Given the description of an element on the screen output the (x, y) to click on. 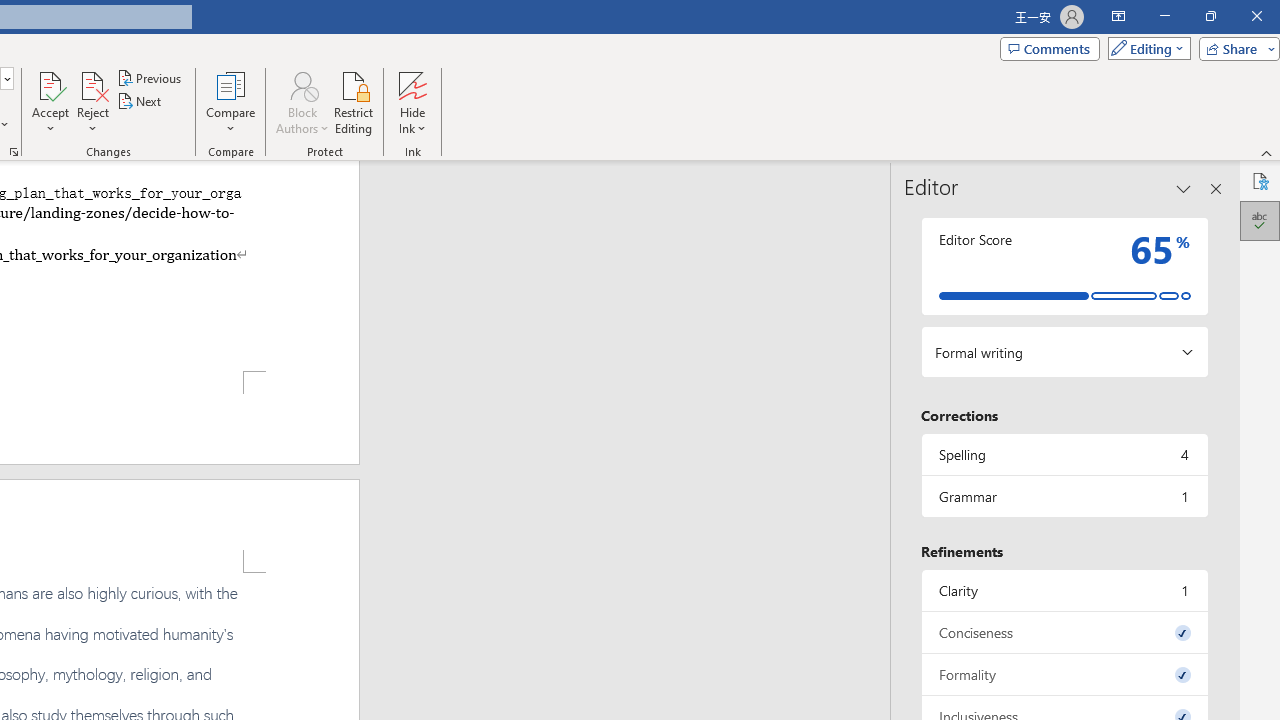
Accept (50, 102)
Conciseness, 0 issues. Press space or enter to review items. (1064, 632)
Formality, 0 issues. Press space or enter to review items. (1064, 673)
Restrict Editing (353, 102)
